Given the description of an element on the screen output the (x, y) to click on. 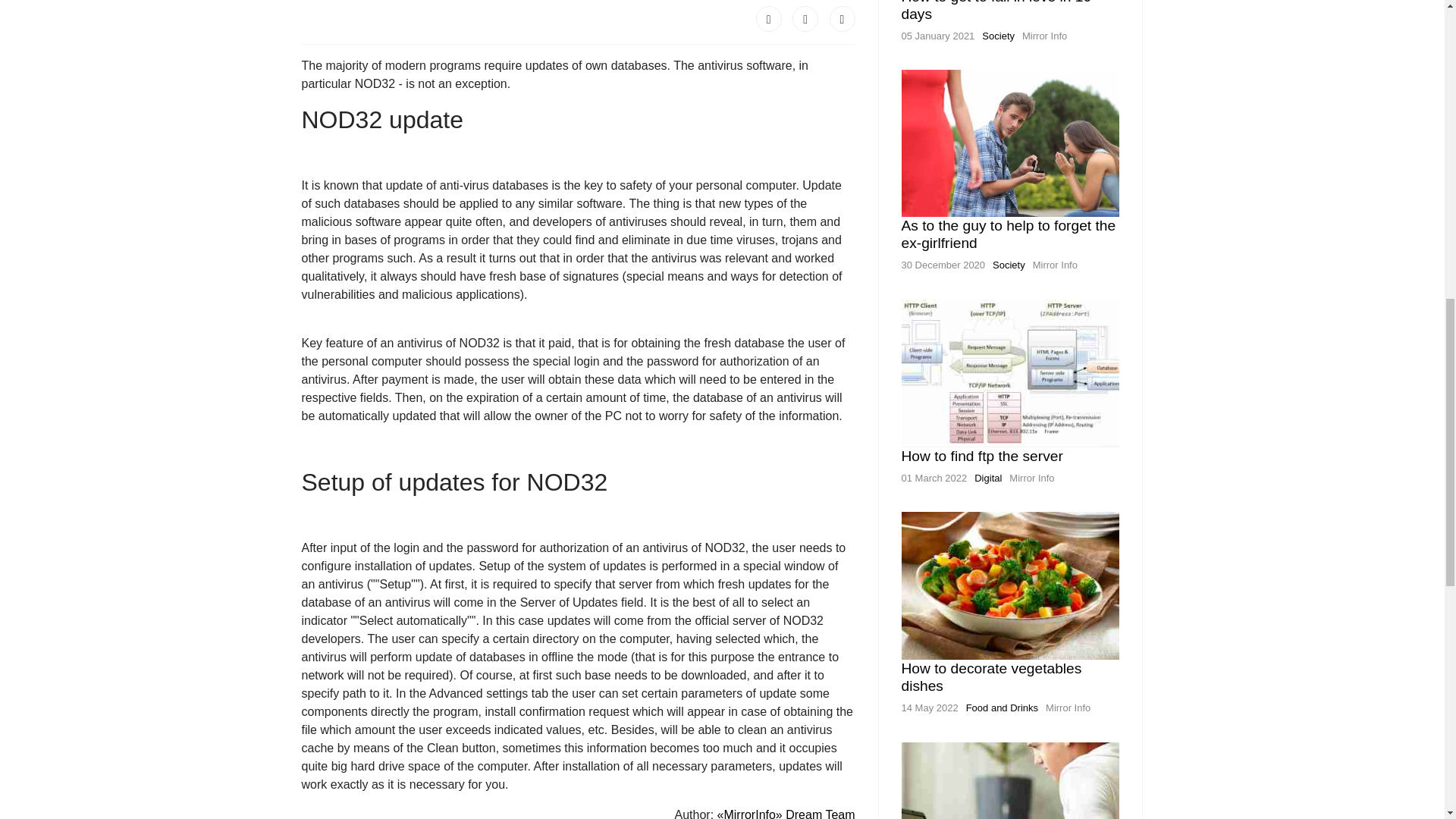
As to the guy to help to forget the ex-girlfriend (1008, 233)
Digital (987, 478)
Twitter (805, 18)
Society (997, 35)
Society (1008, 265)
LinkedIn (842, 18)
How to get to fall in love in 10 days (995, 11)
Facebook (768, 18)
How to find ftp the server (981, 455)
